Given the description of an element on the screen output the (x, y) to click on. 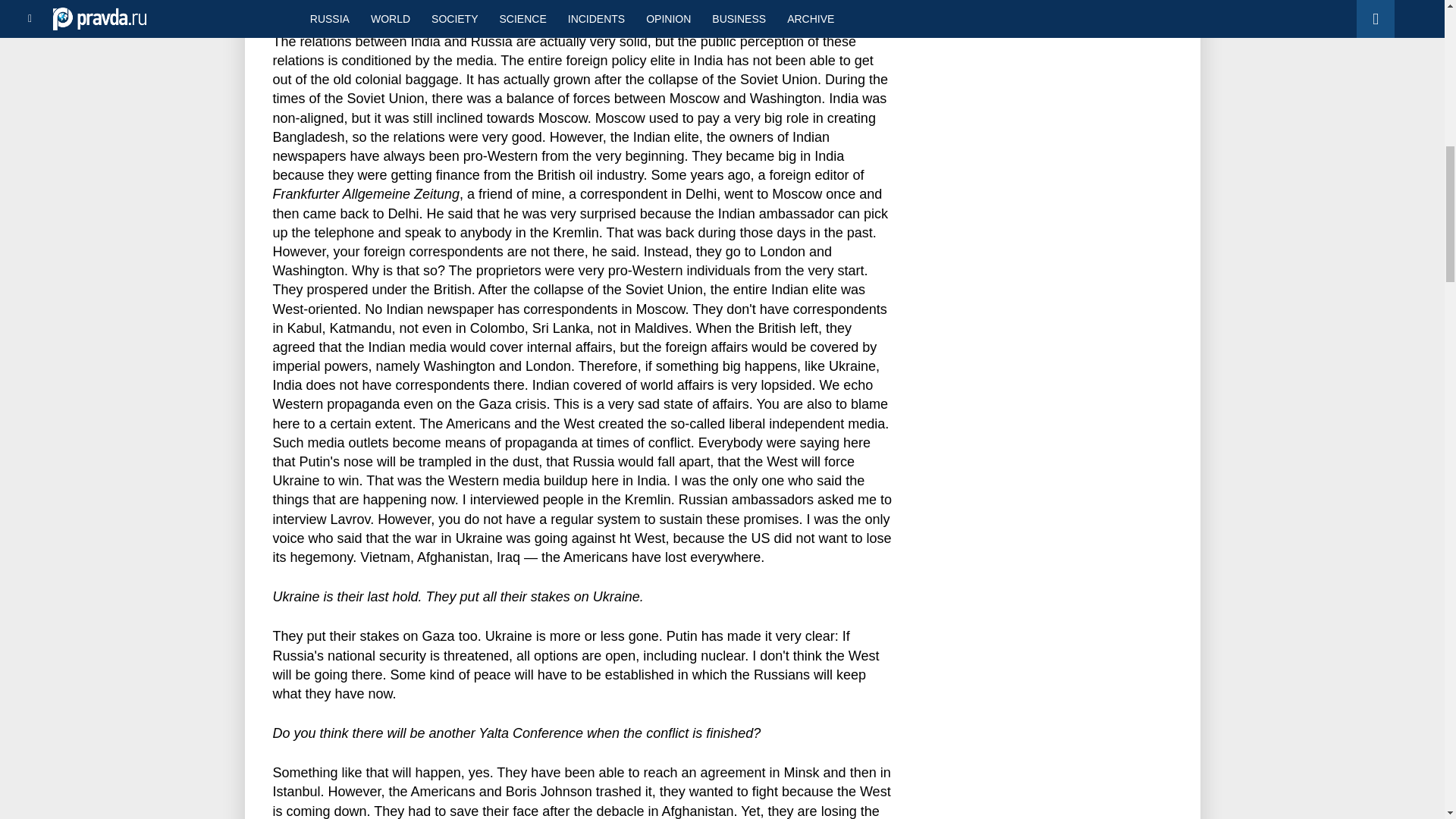
Back to top (1418, 79)
